Given the description of an element on the screen output the (x, y) to click on. 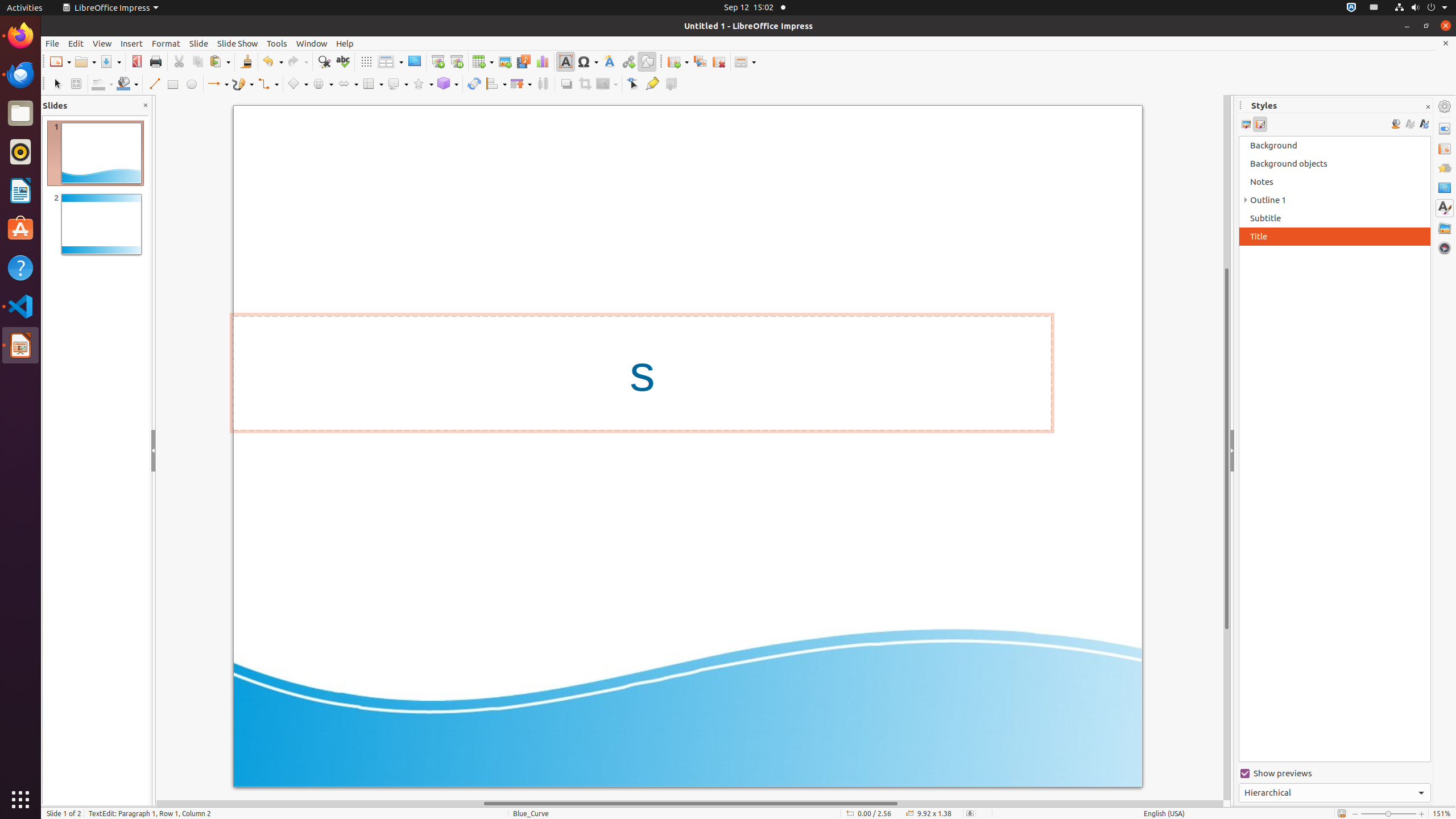
Fontwork Style Element type: toggle-button (609, 61)
Start from First Slide Element type: push-button (437, 61)
Visual Studio Code Element type: push-button (20, 306)
Select Element type: push-button (56, 83)
